Given the description of an element on the screen output the (x, y) to click on. 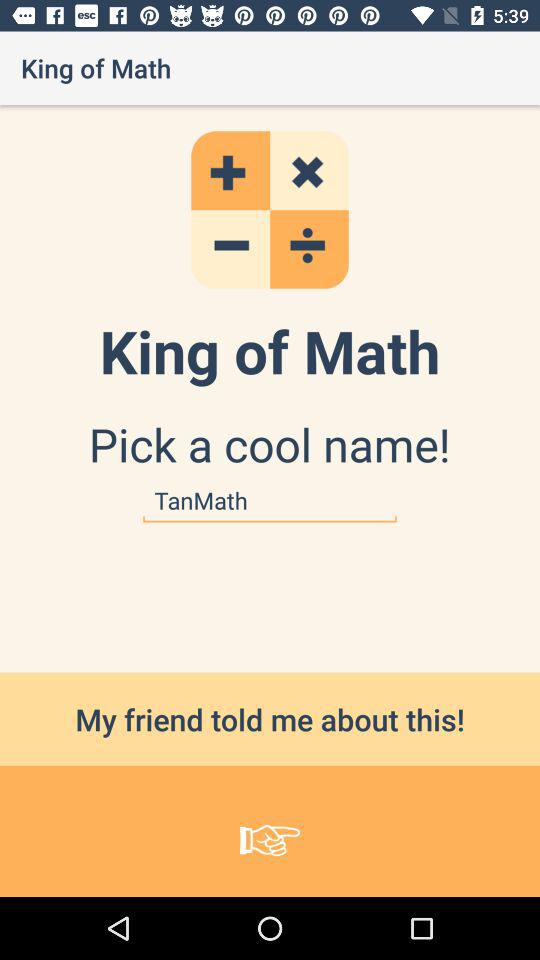
select icon above my friend told item (269, 500)
